Given the description of an element on the screen output the (x, y) to click on. 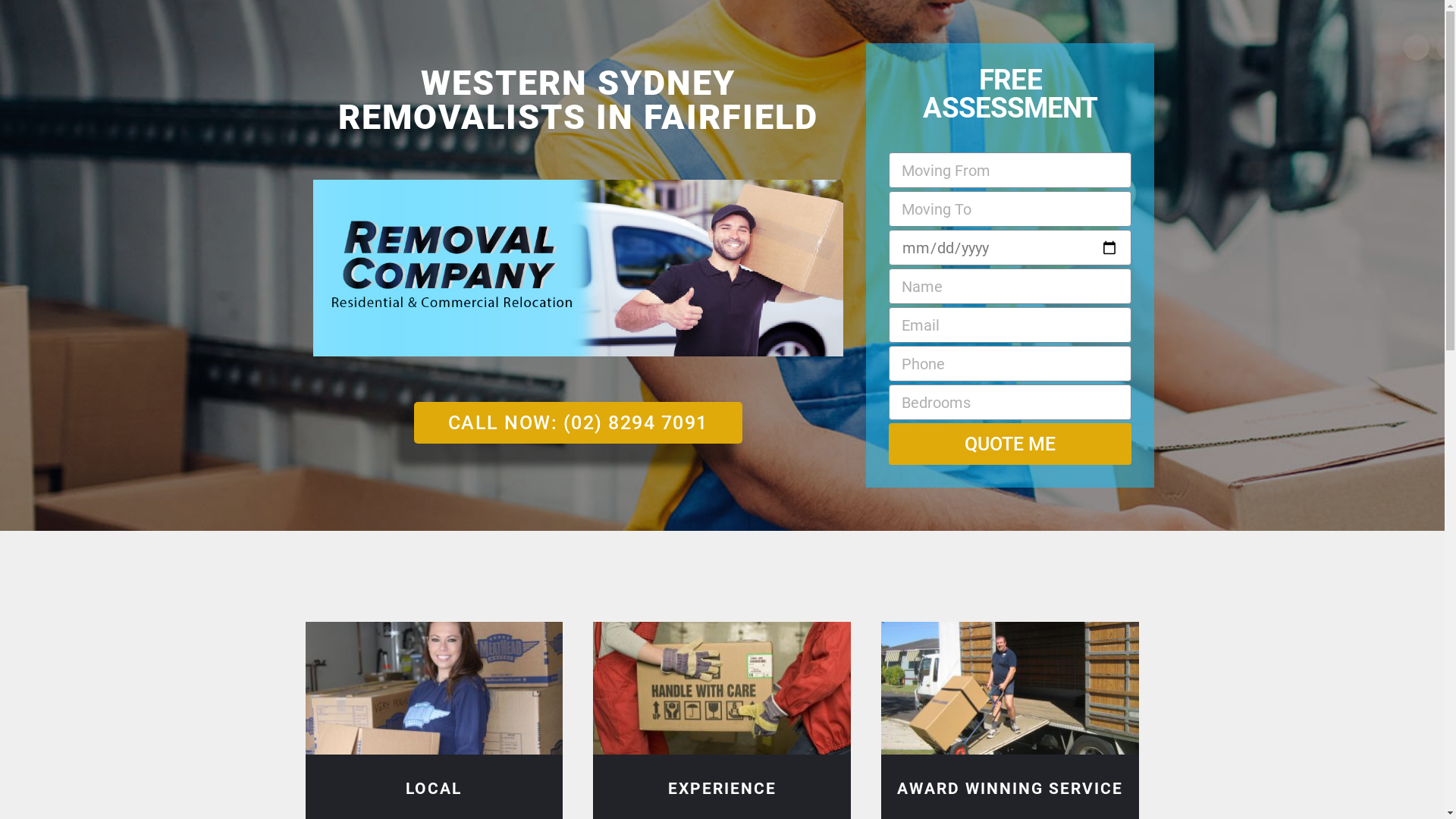
Award Winning Fairfield Removal Services Element type: hover (1010, 687)
QUOTE ME Element type: text (1009, 443)
Experienced Removalists Fairfield Element type: hover (721, 687)
CALL NOW: (02) 8294 7091 Element type: text (578, 422)
Local Fairfield Removalists Element type: hover (433, 687)
